Given the description of an element on the screen output the (x, y) to click on. 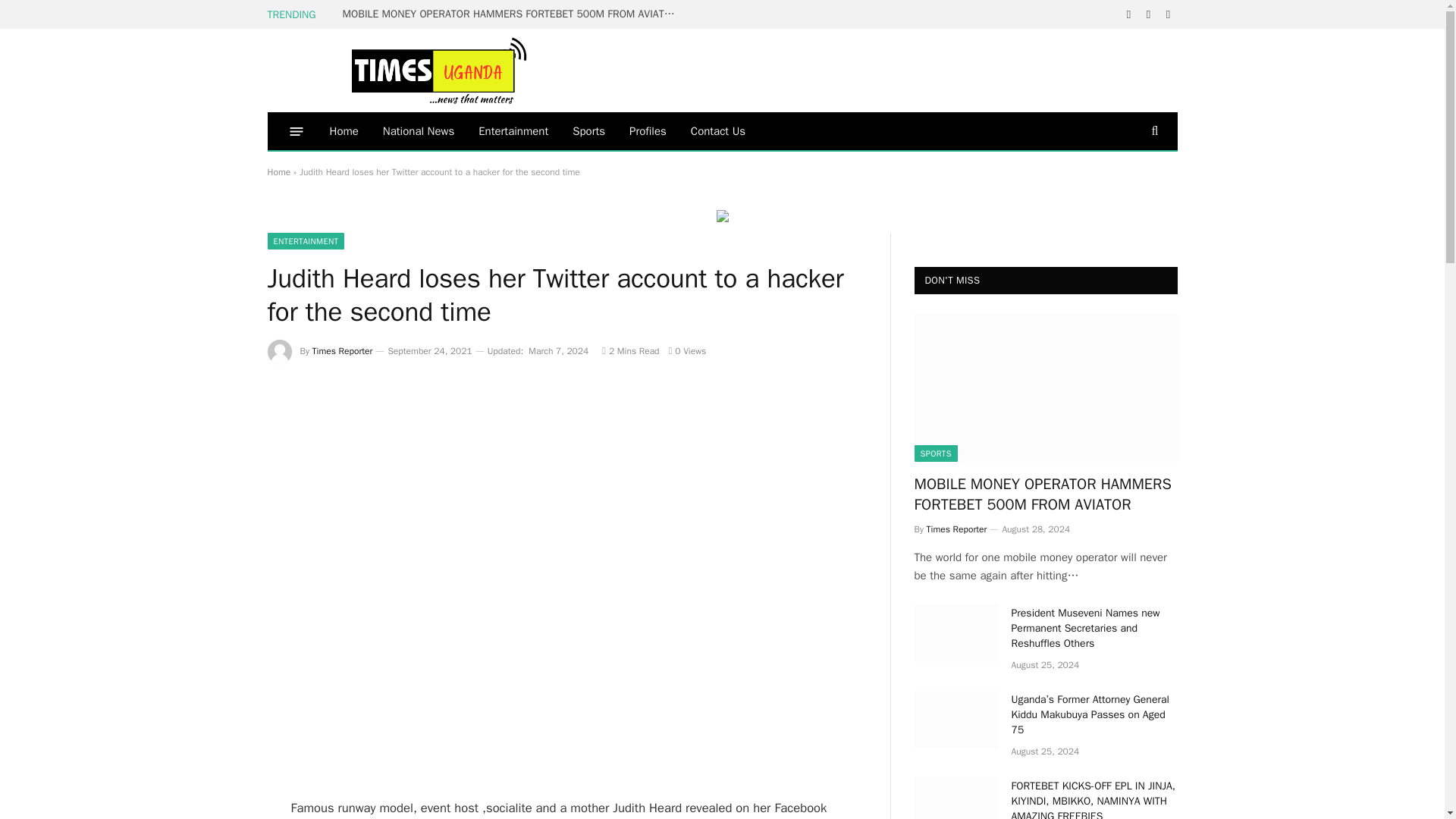
Profiles (647, 130)
Home (277, 172)
ENTERTAINMENT (304, 240)
National News (418, 130)
Contact Us (717, 130)
Posts by Times Reporter (342, 350)
MOBILE MONEY OPERATOR HAMMERS FORTEBET 500M FROM AVIATOR (513, 14)
Times Uganda (441, 70)
Home (343, 130)
